Given the description of an element on the screen output the (x, y) to click on. 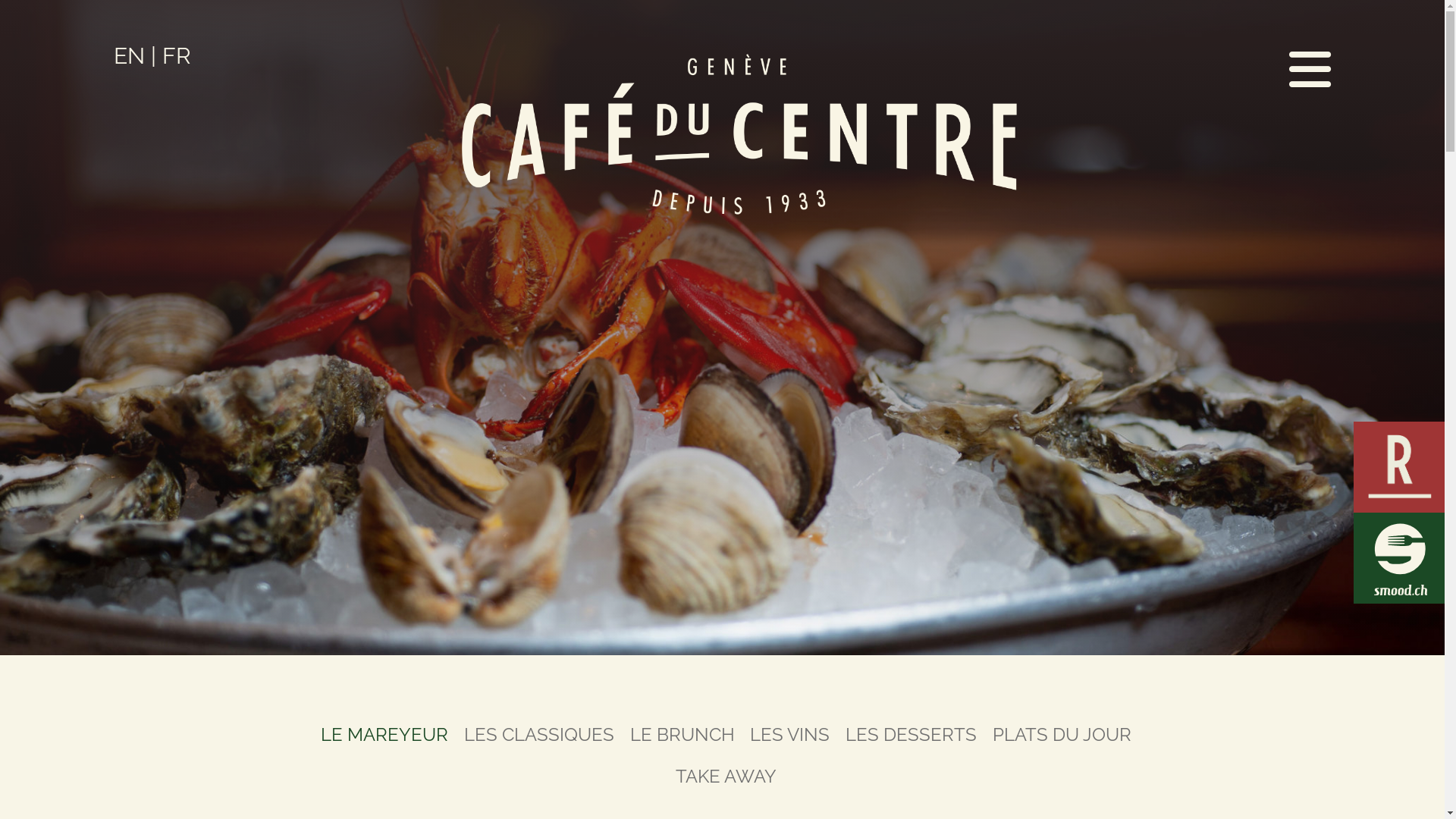
EN Element type: text (128, 55)
FR Element type: text (176, 55)
Back to homepage Element type: hover (740, 138)
